Given the description of an element on the screen output the (x, y) to click on. 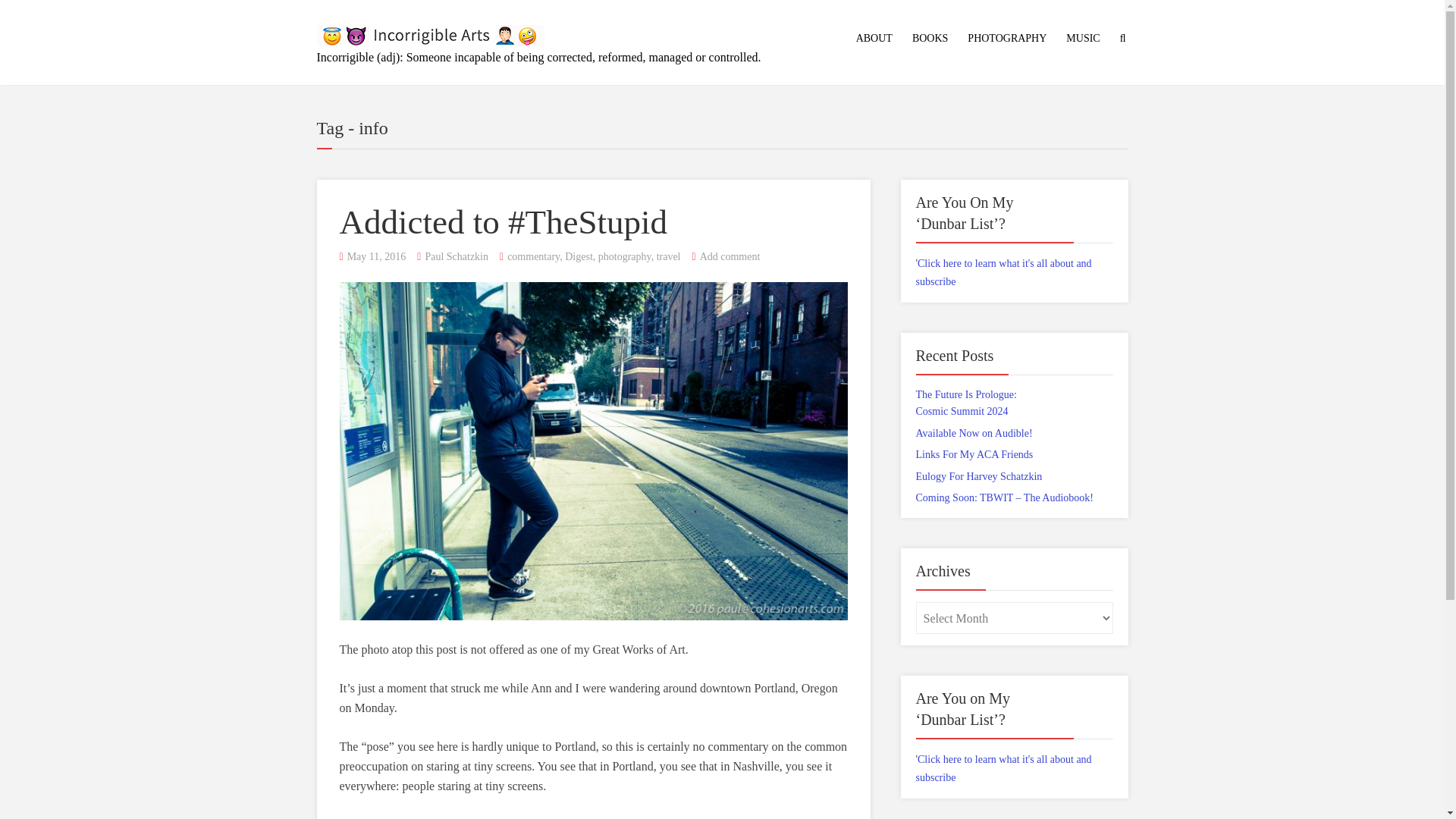
Links For My ACA Friends (974, 454)
Digest (578, 256)
Click here to learn what it's all about and subscribe (1003, 272)
Incorrigible Arts (430, 32)
travel (668, 256)
commentary (532, 256)
Available Now on Audible! (973, 432)
Eulogy For Harvey Schatzkin (978, 476)
Paul Schatzkin (456, 256)
Click here to learn what it's all about and subscribe (1003, 767)
